Given the description of an element on the screen output the (x, y) to click on. 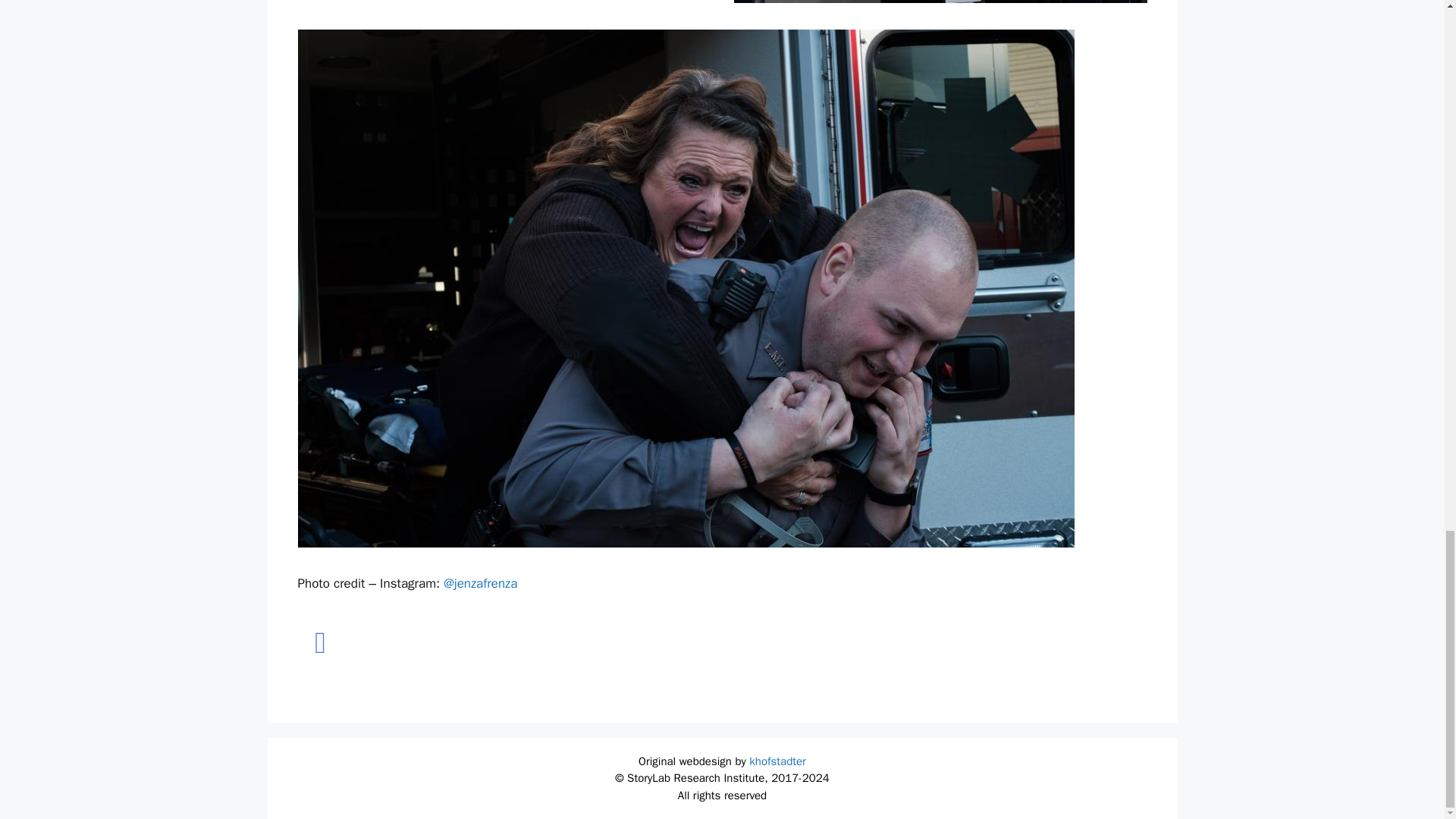
The Frontline Stories (319, 642)
Scroll back to top (1406, 9)
khofstadter (777, 761)
